Given the description of an element on the screen output the (x, y) to click on. 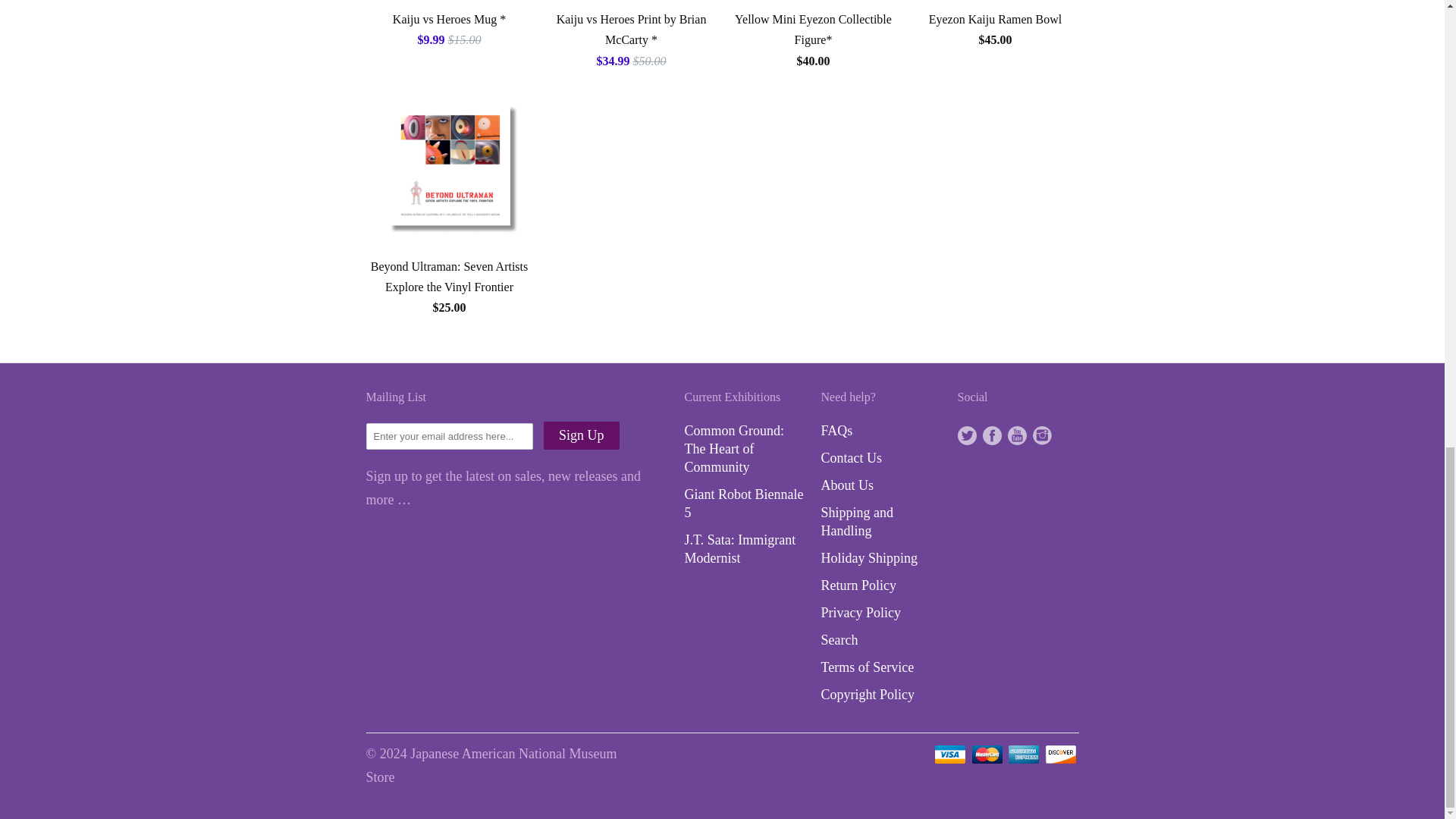
Sign Up (581, 435)
